Given the description of an element on the screen output the (x, y) to click on. 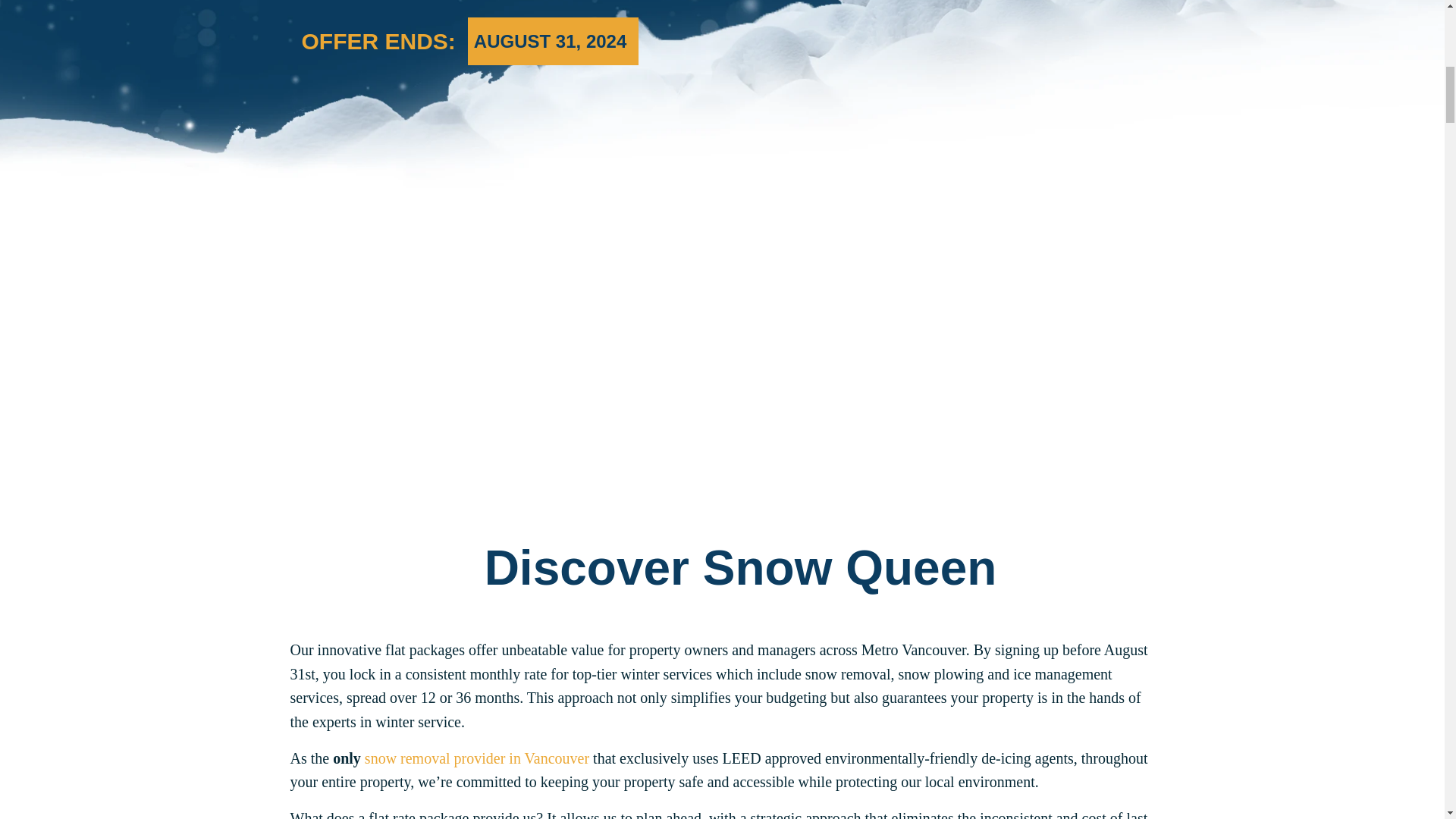
snow removal provider in Vancouver (477, 758)
